Given the description of an element on the screen output the (x, y) to click on. 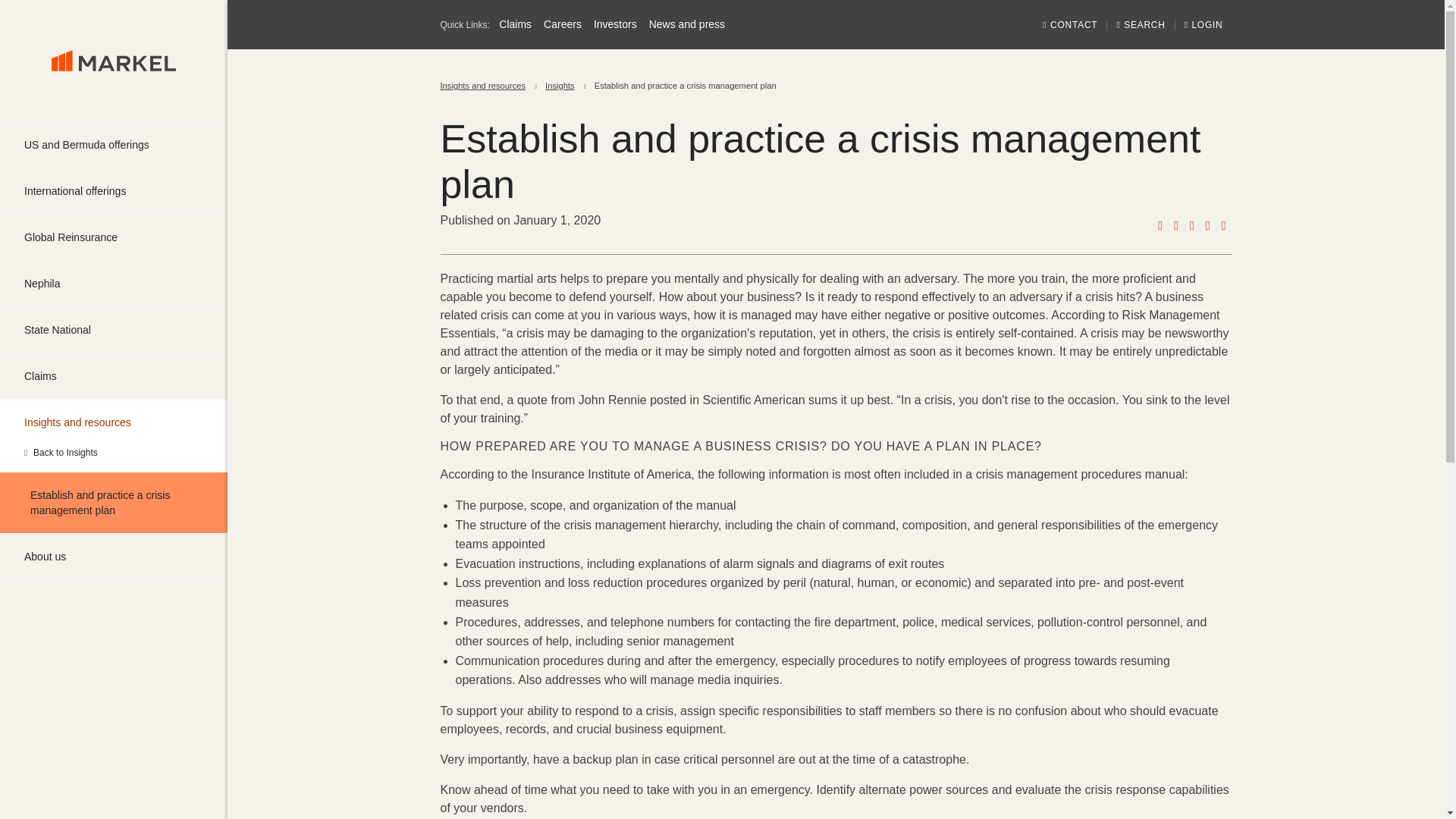
US and Bermuda offerings (113, 144)
Claims (113, 375)
Claims (113, 375)
Global Reinsurance (113, 237)
International offerings (113, 190)
About us (113, 556)
About us (113, 556)
Nephila (113, 283)
State National (113, 329)
US and Bermuda offerings (113, 144)
